Given the description of an element on the screen output the (x, y) to click on. 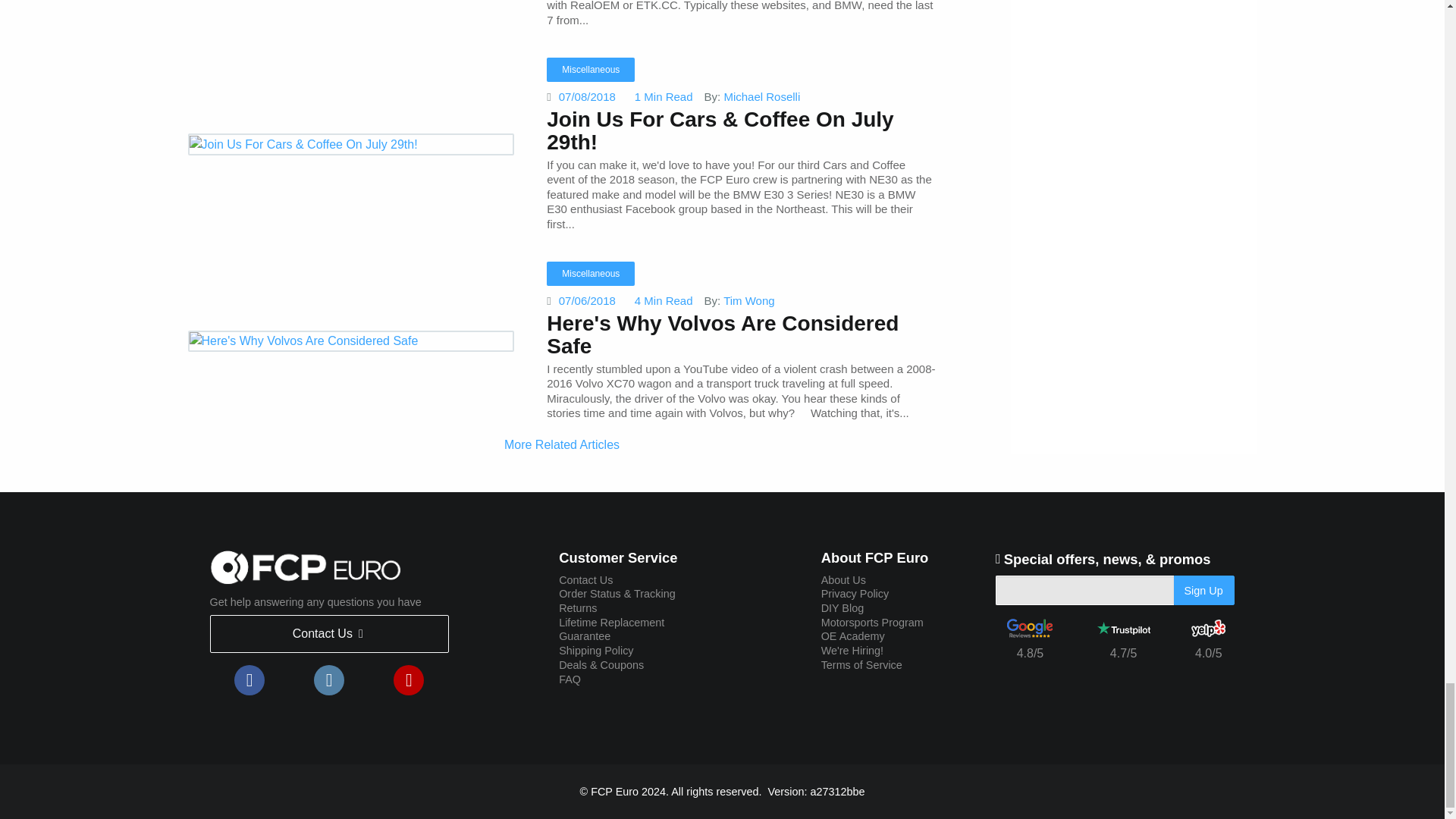
Official Facebook Page (249, 680)
Official Youtube Channel (408, 680)
Official Instagram Profile (328, 680)
